Given the description of an element on the screen output the (x, y) to click on. 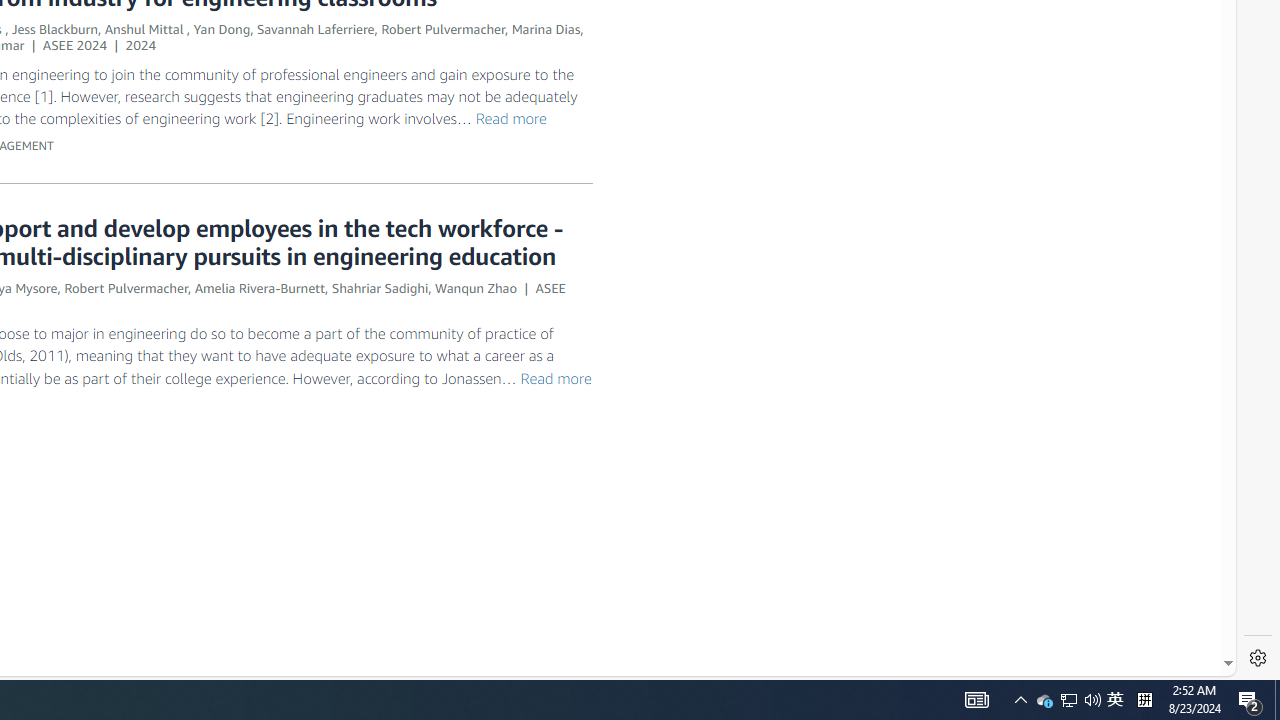
Robert Pulvermacher (126, 288)
Marina Dias (545, 29)
Yan Dong (221, 29)
Wanqun Zhao (475, 288)
Amelia Rivera-Burnett (260, 288)
Jess Blackburn (54, 29)
Read more (555, 377)
Shahriar Sadighi (379, 288)
